Given the description of an element on the screen output the (x, y) to click on. 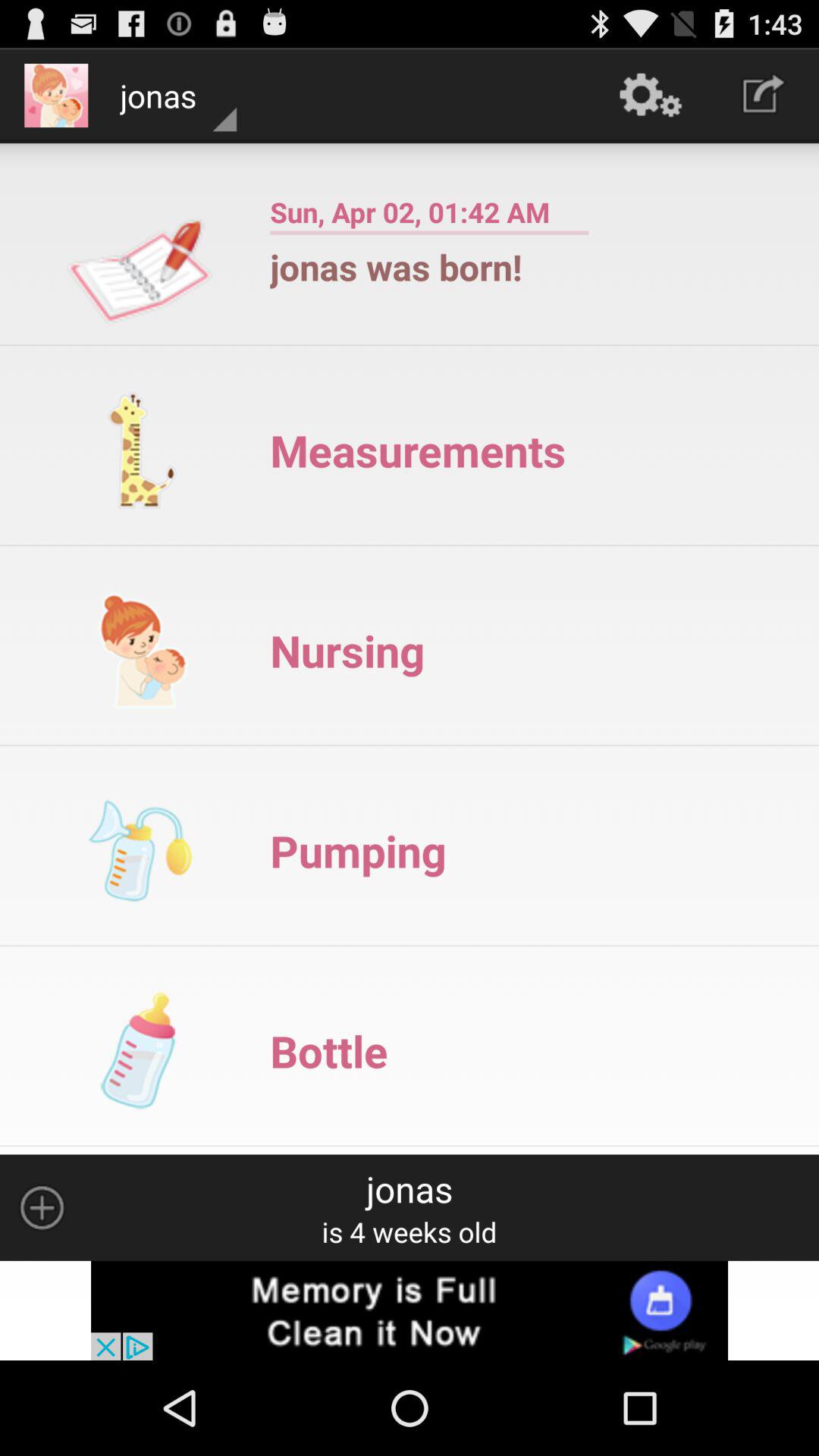
go to increase (41, 1207)
